Given the description of an element on the screen output the (x, y) to click on. 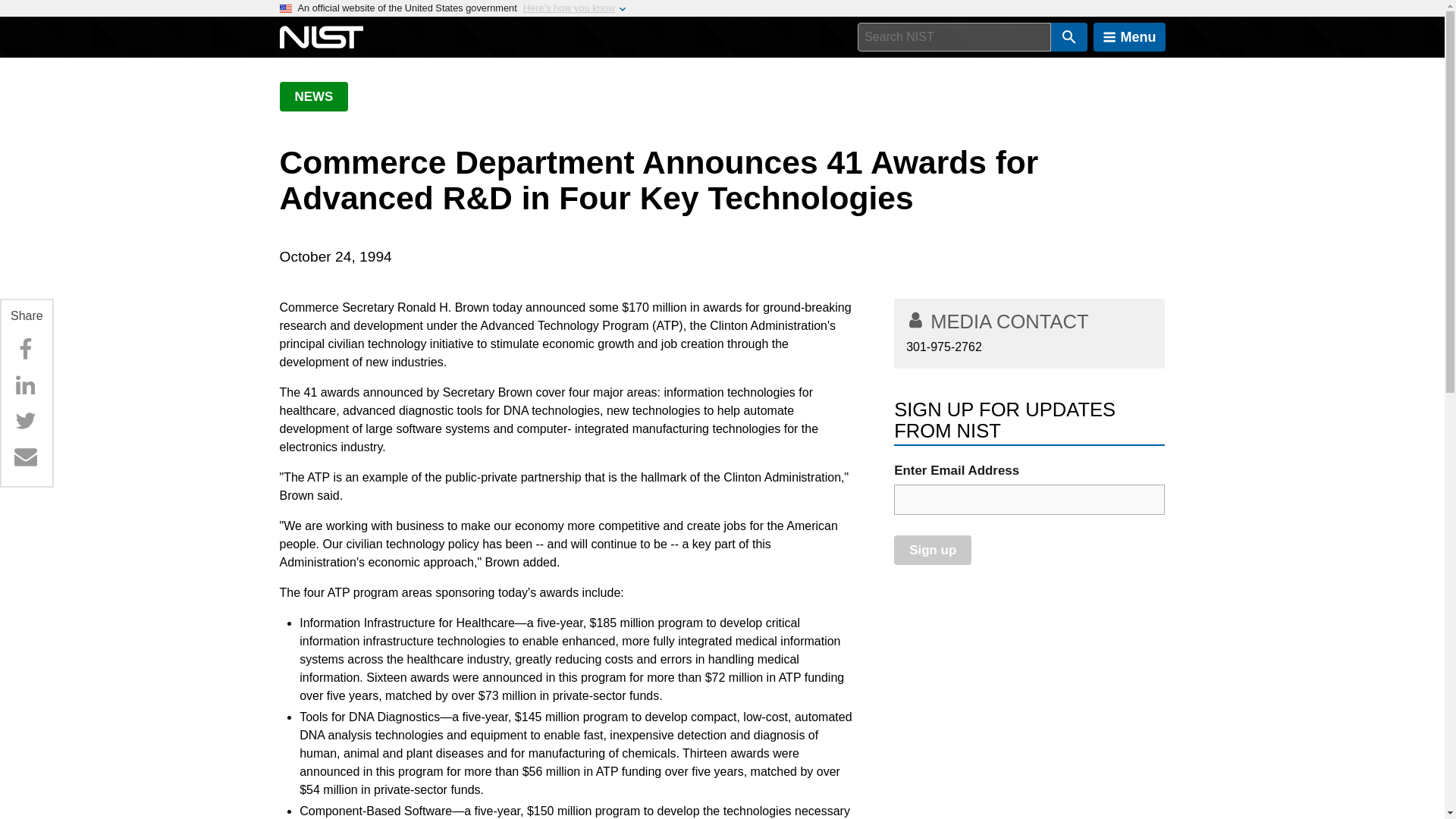
email (1028, 499)
NEWS (313, 96)
Linkedin (25, 385)
Menu (1129, 36)
Email (25, 456)
Twitter (25, 420)
Sign up (932, 550)
Sign up (932, 550)
Facebook (25, 349)
